Given the description of an element on the screen output the (x, y) to click on. 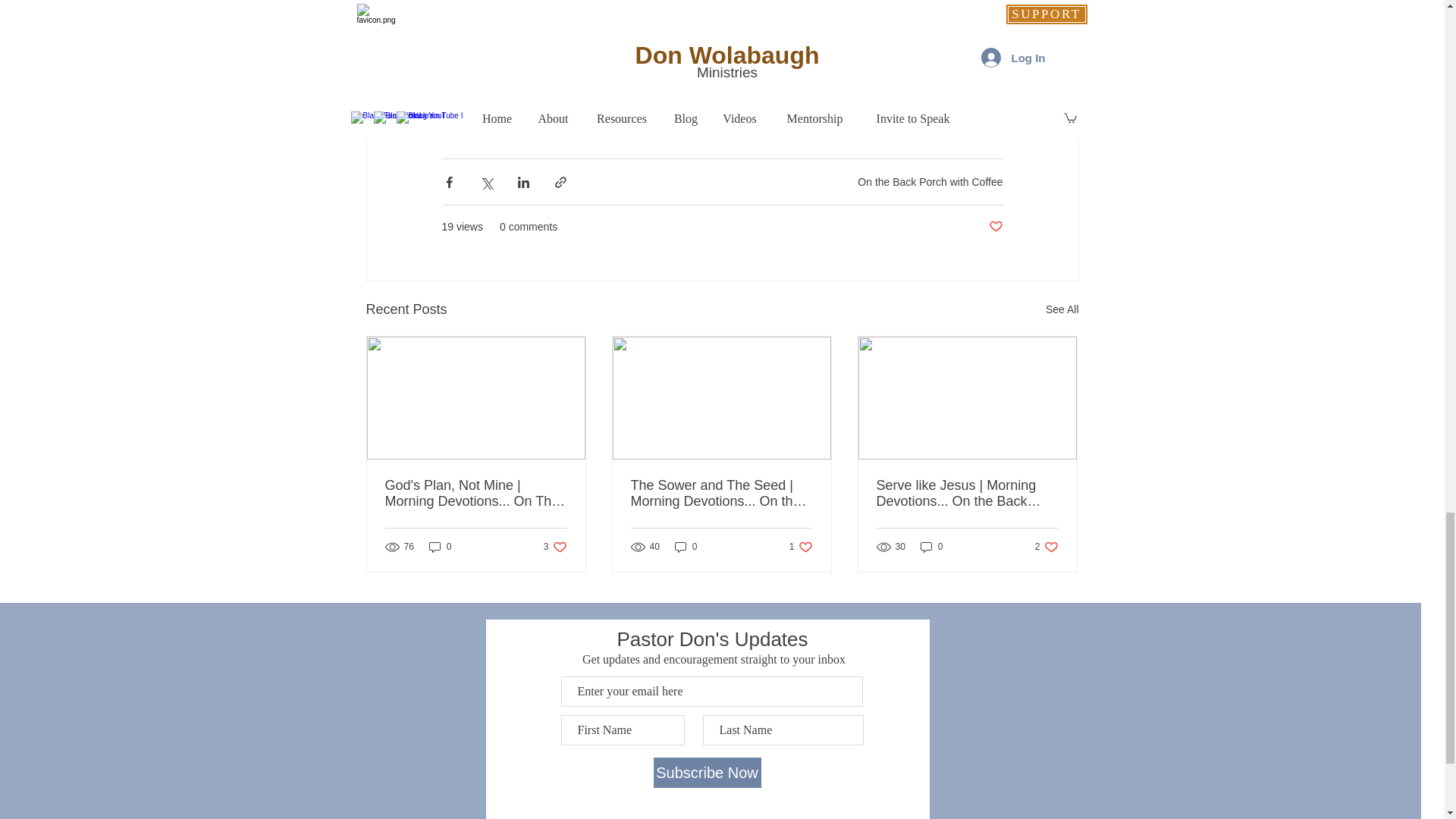
0 (800, 546)
0 (440, 546)
0 (931, 546)
On the Back Porch with Coffee (685, 546)
See All (930, 182)
Post not marked as liked (555, 546)
